Given the description of an element on the screen output the (x, y) to click on. 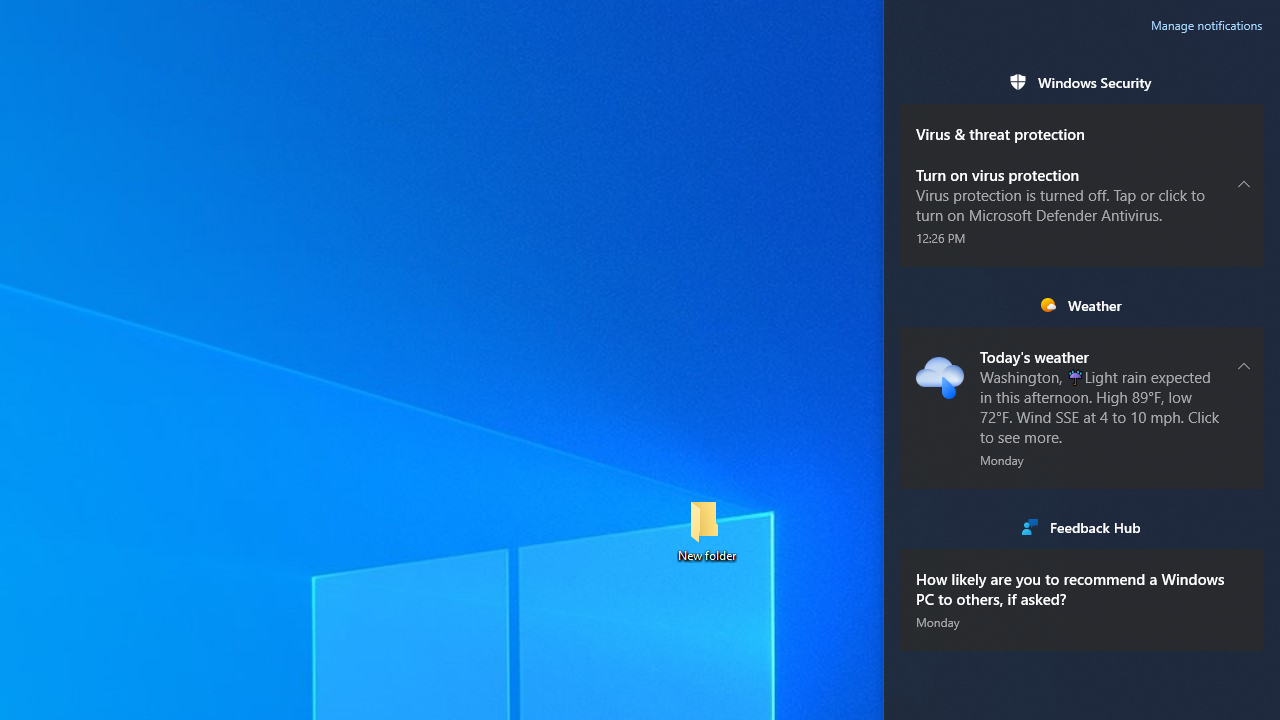
Collapse this notification (1244, 365)
Clear all notifications for Feedback Hub (1244, 526)
Clear all notifications for Weather (1244, 305)
Manage notifications (1206, 25)
Clear this notification (1244, 568)
Virus & threat protection. . Received on . Subgroup. (1081, 123)
Clear all notifications for Windows Security (1244, 82)
Settings for this notification (1244, 588)
Clear all notifications for Virus & threat protection (1244, 123)
